Given the description of an element on the screen output the (x, y) to click on. 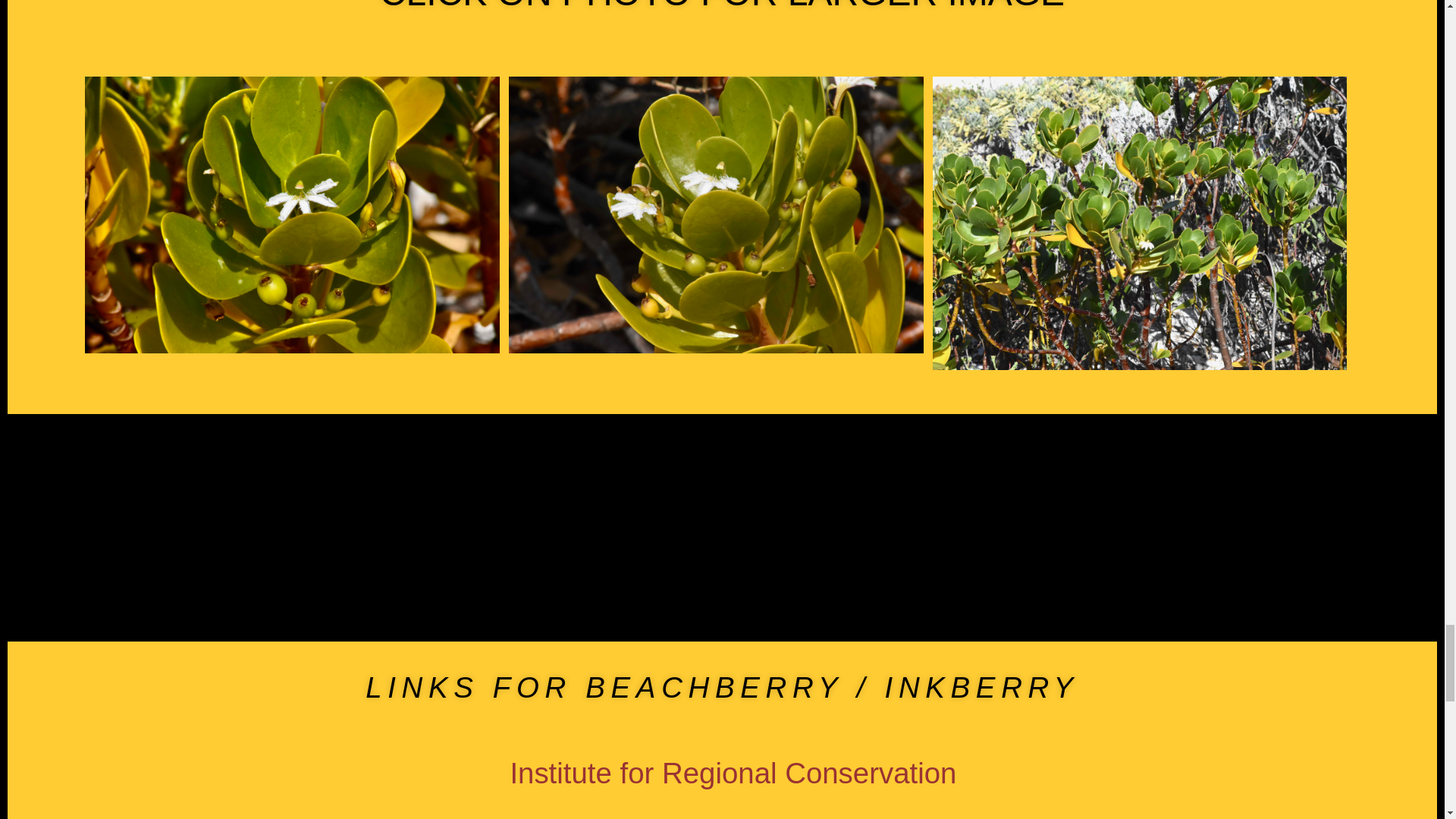
Institute for Regional Conservation (732, 772)
